Given the description of an element on the screen output the (x, y) to click on. 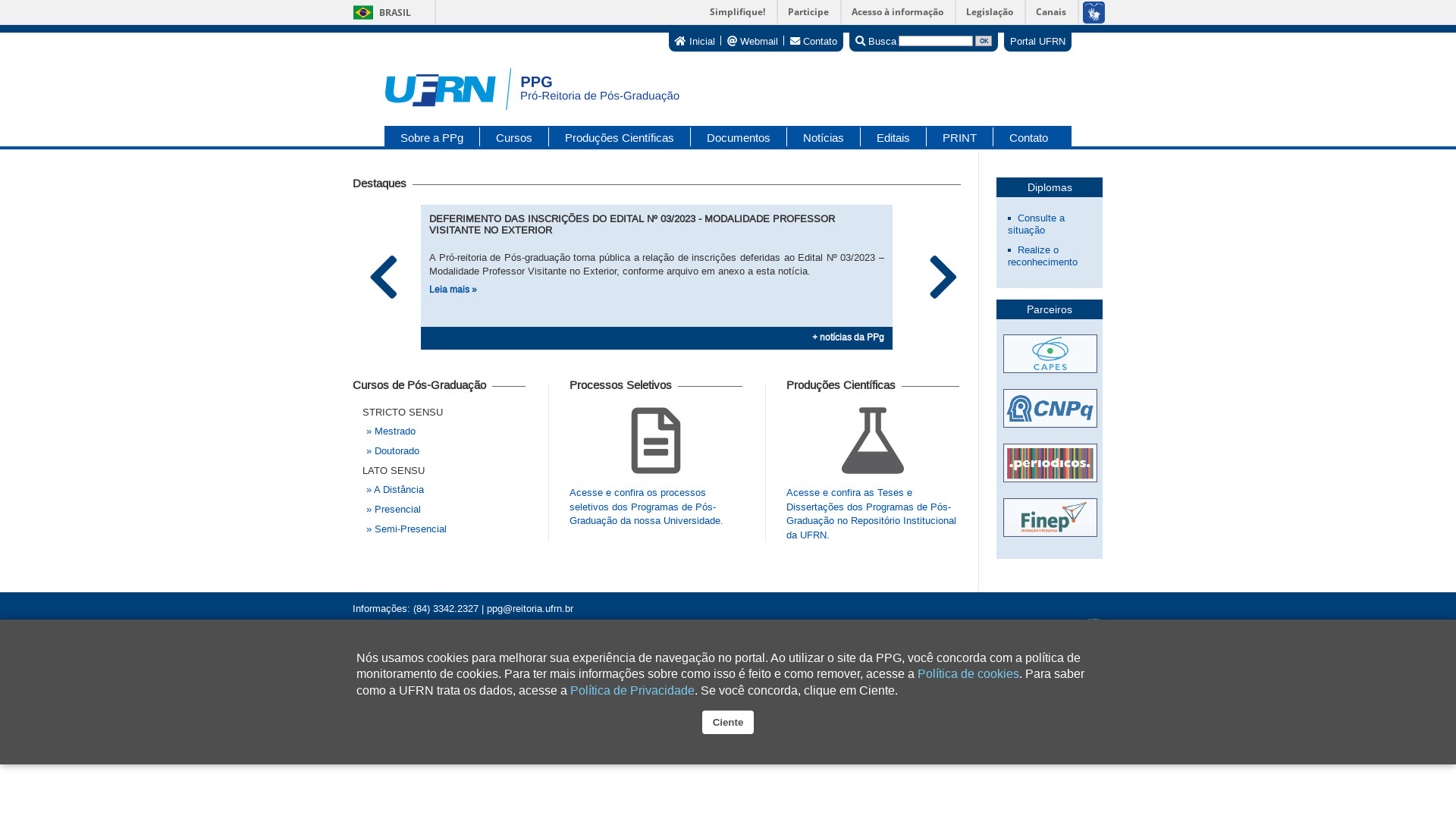
Realize o reconhecimento Element type: text (1042, 255)
PRINT Element type: text (959, 136)
UFRN - Universidade Federal do Rio Grande do Norte Element type: text (469, 636)
Contato Element type: text (813, 40)
Acessar site da CAPES Element type: hover (1049, 361)
Acessar site da CNPQ Element type: hover (1049, 416)
Editais Element type: text (893, 136)
STI Element type: text (1092, 622)
Contato Element type: text (1020, 136)
Inicial Element type: text (694, 40)
ppg@reitoria.ufrn.br Element type: text (529, 608)
Acessar site da FINEP Element type: hover (1049, 518)
Cursos Element type: text (514, 136)
BRASIL Element type: text (379, 12)
Portal UFRN Element type: text (1037, 41)
Sobre a PPg Element type: text (432, 136)
OK Element type: text (983, 40)
Documentos Element type: text (738, 136)
Ciente Element type: text (728, 722)
Webmail Element type: text (752, 40)
